Given the description of an element on the screen output the (x, y) to click on. 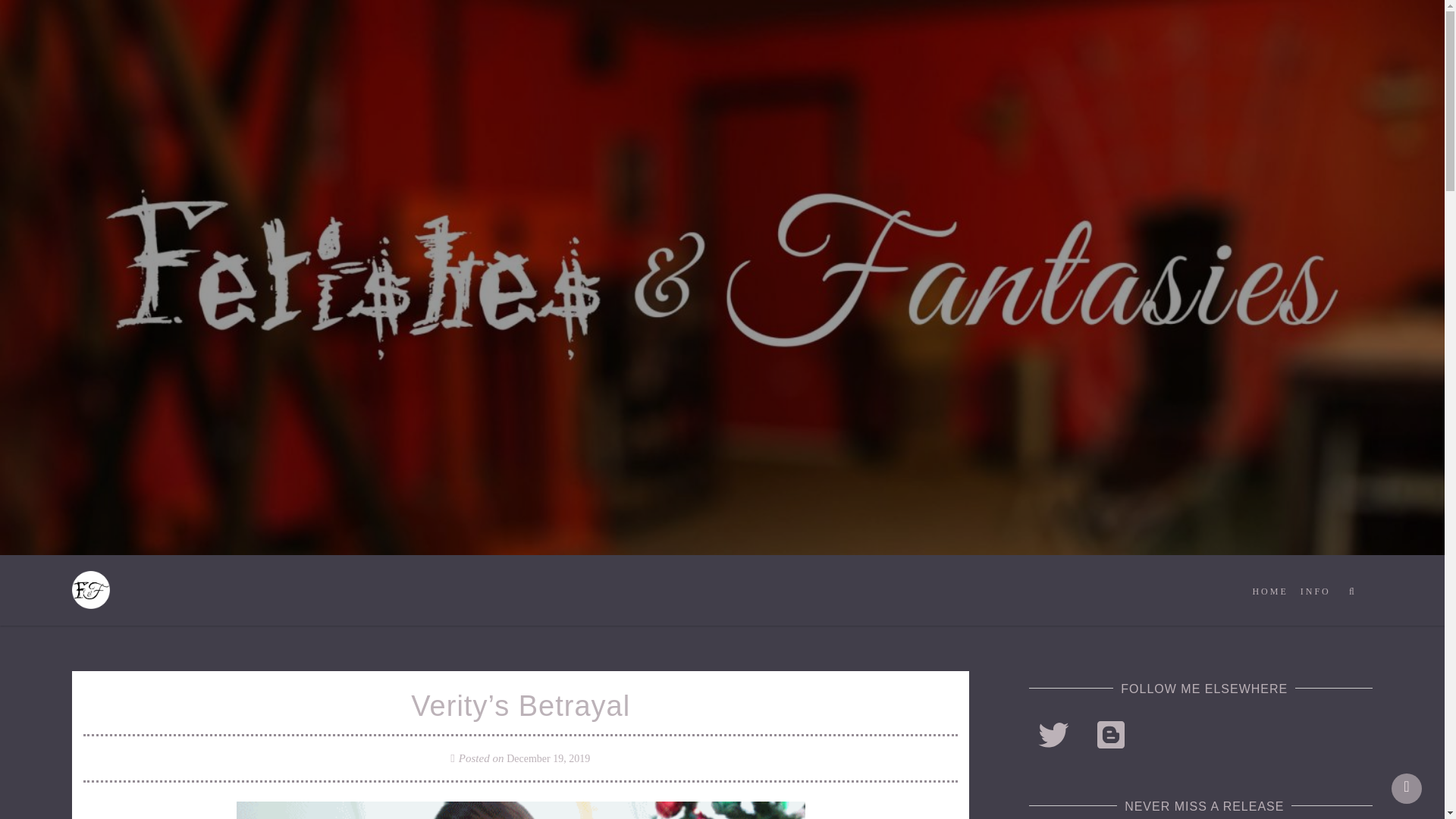
Go to Top (1406, 788)
HOME (1269, 591)
December 19, 2019 (547, 759)
INFO (1315, 591)
